Given the description of an element on the screen output the (x, y) to click on. 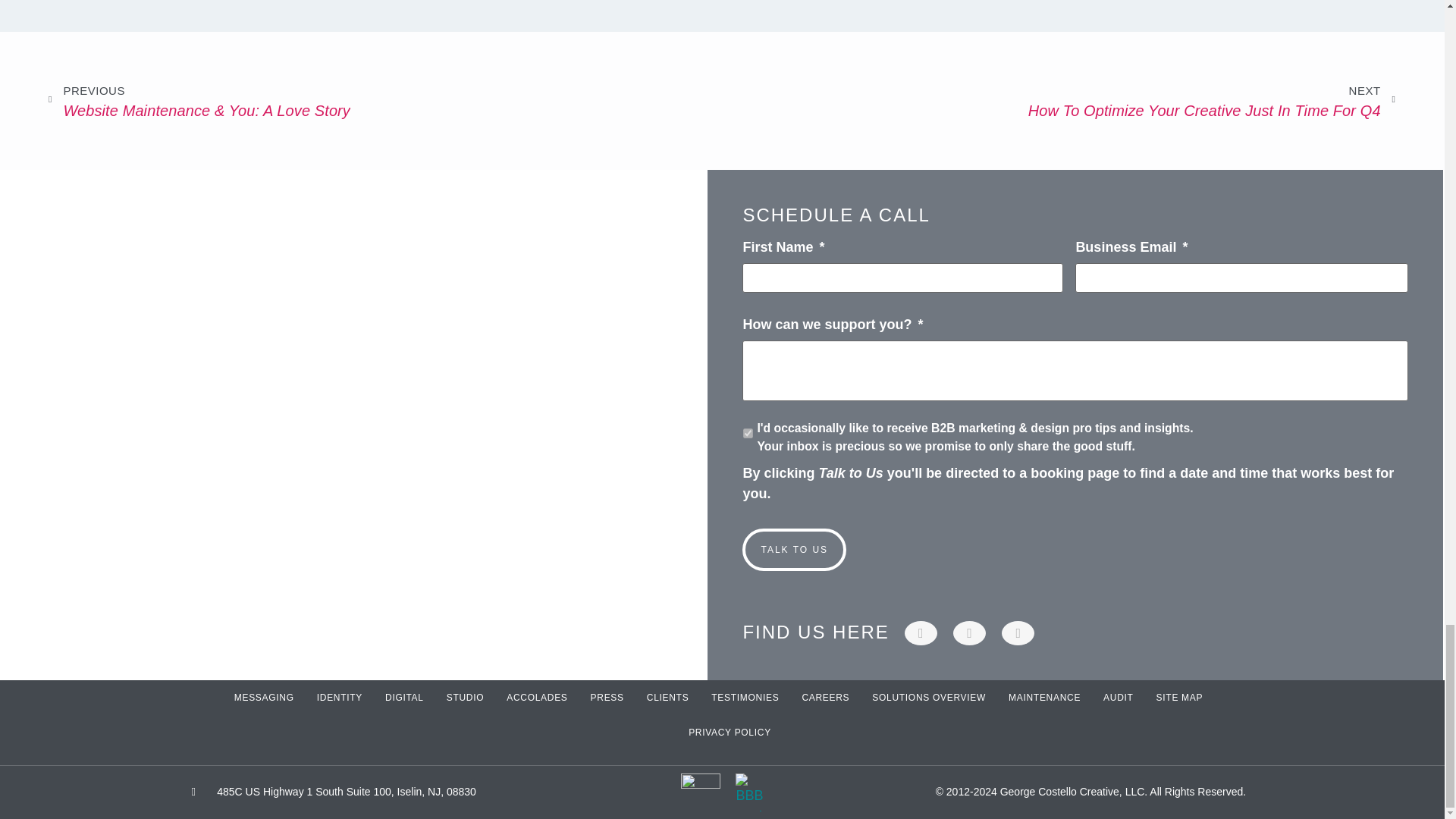
Talk to us (1058, 100)
